Given the description of an element on the screen output the (x, y) to click on. 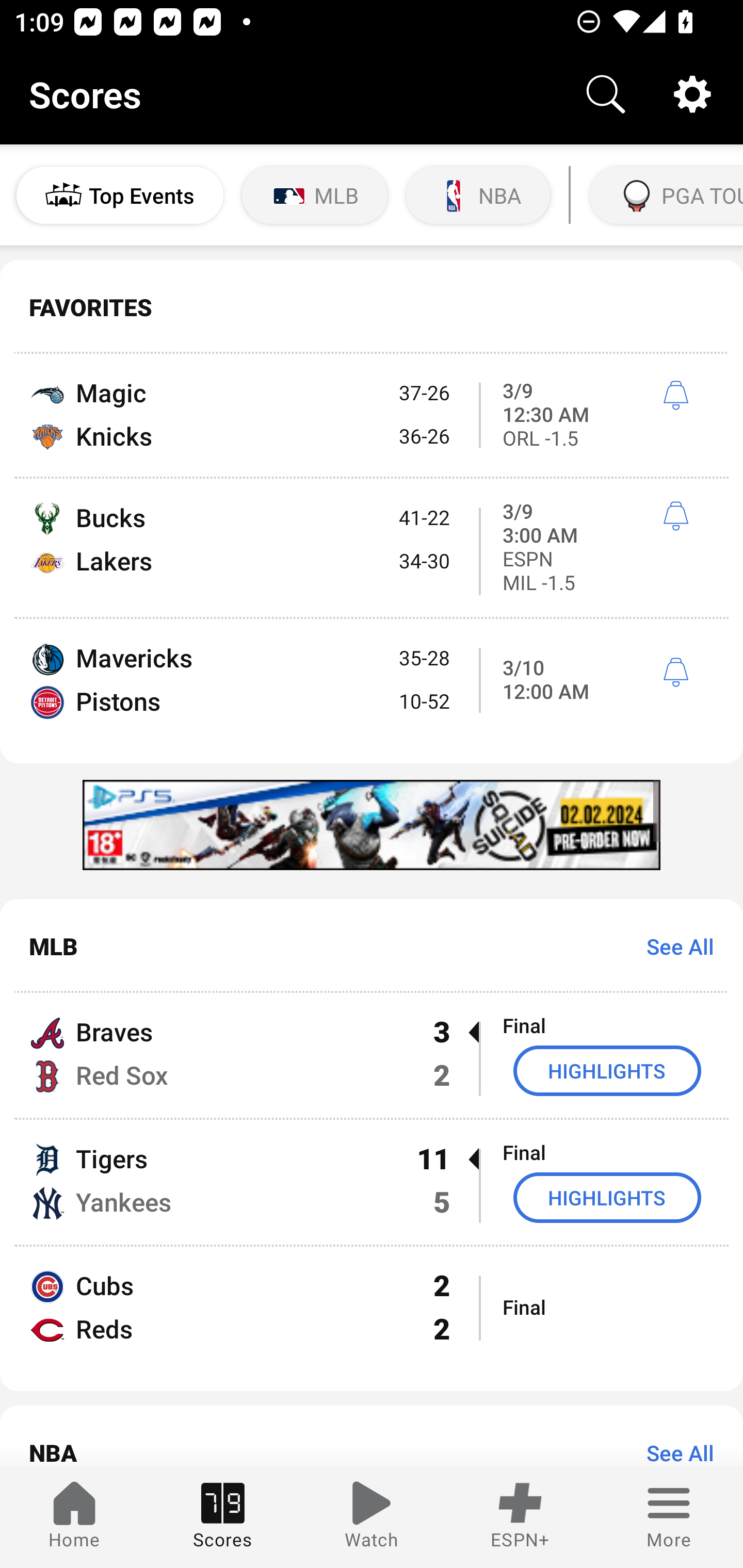
Search (605, 93)
Settings (692, 93)
 Top Events (119, 194)
MLB (314, 194)
NBA (477, 194)
PGA TOUR (664, 194)
FAVORITES (371, 307)
Magic 37-26 Knicks 36-26 3/9 12:30 AM í ORL -1.5 (371, 415)
í (675, 395)
í (675, 516)
Mavericks 35-28 Pistons 10-52 3/10 12:00 AM í (371, 691)
í (675, 672)
kgdfiivk_320x50 (371, 824)
kgdfiivk_320x50 (371, 824)
MLB See All (371, 945)
See All (673, 946)
Braves 3  Final Red Sox 2 HIGHLIGHTS (371, 1054)
HIGHLIGHTS (607, 1070)
Tigers 11  Final Yankees 5 HIGHLIGHTS (371, 1181)
HIGHLIGHTS (607, 1197)
Cubs 2 Reds 2 Final (371, 1318)
NBA See All (371, 1435)
See All (673, 1452)
Home (74, 1517)
Watch (371, 1517)
ESPN+ (519, 1517)
More (668, 1517)
